Given the description of an element on the screen output the (x, y) to click on. 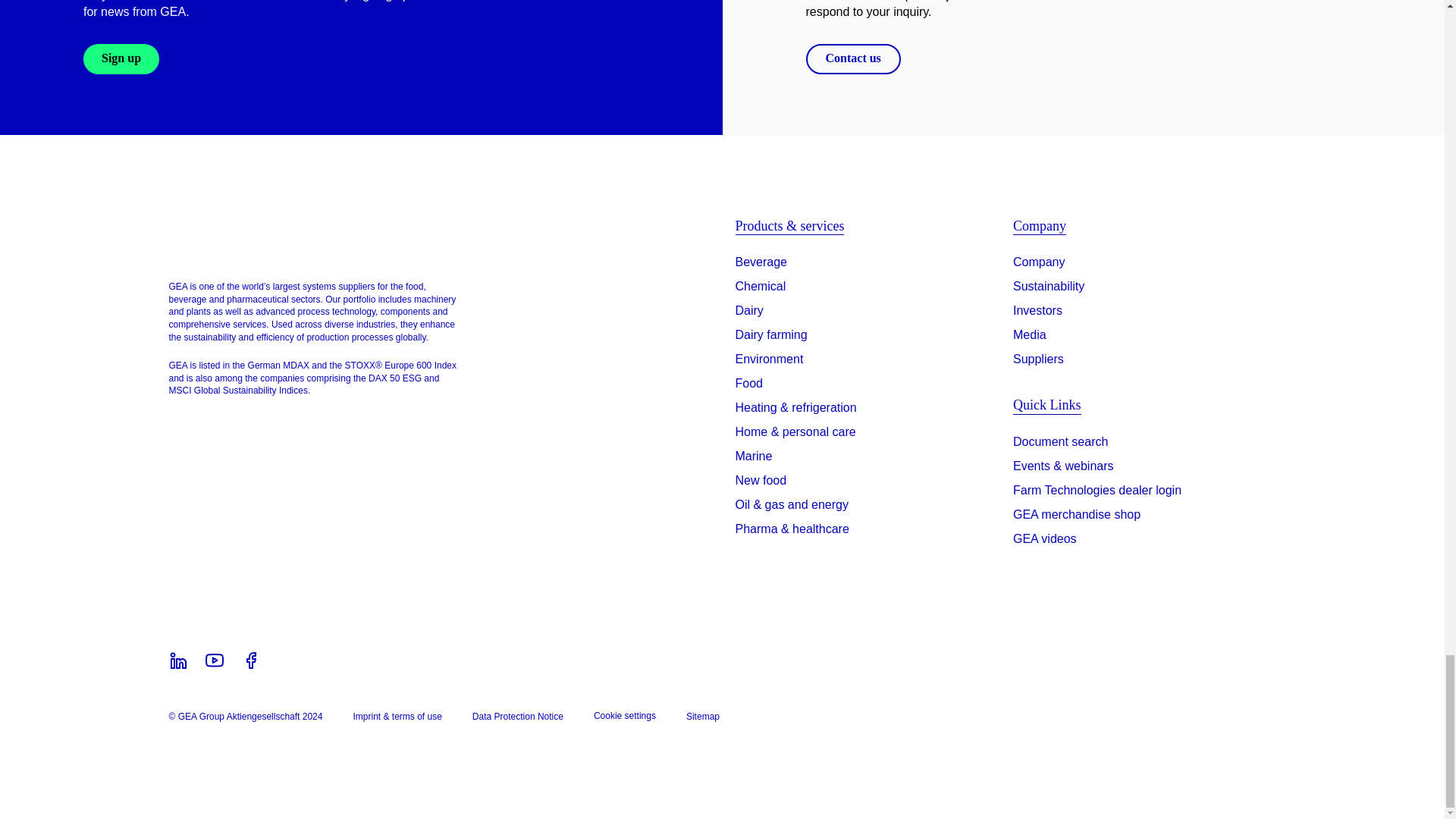
Events (1063, 469)
Suppliers (1038, 359)
Sustainability (1048, 286)
Media (1029, 334)
Company (1038, 262)
Search (1060, 445)
Investors (1037, 311)
